Given the description of an element on the screen output the (x, y) to click on. 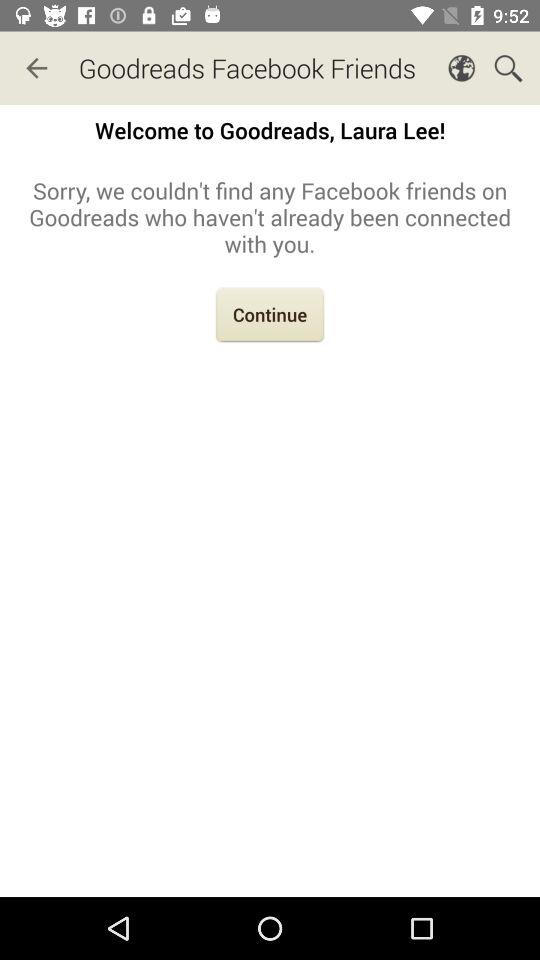
launch the icon below the sorry we couldn icon (269, 316)
